Given the description of an element on the screen output the (x, y) to click on. 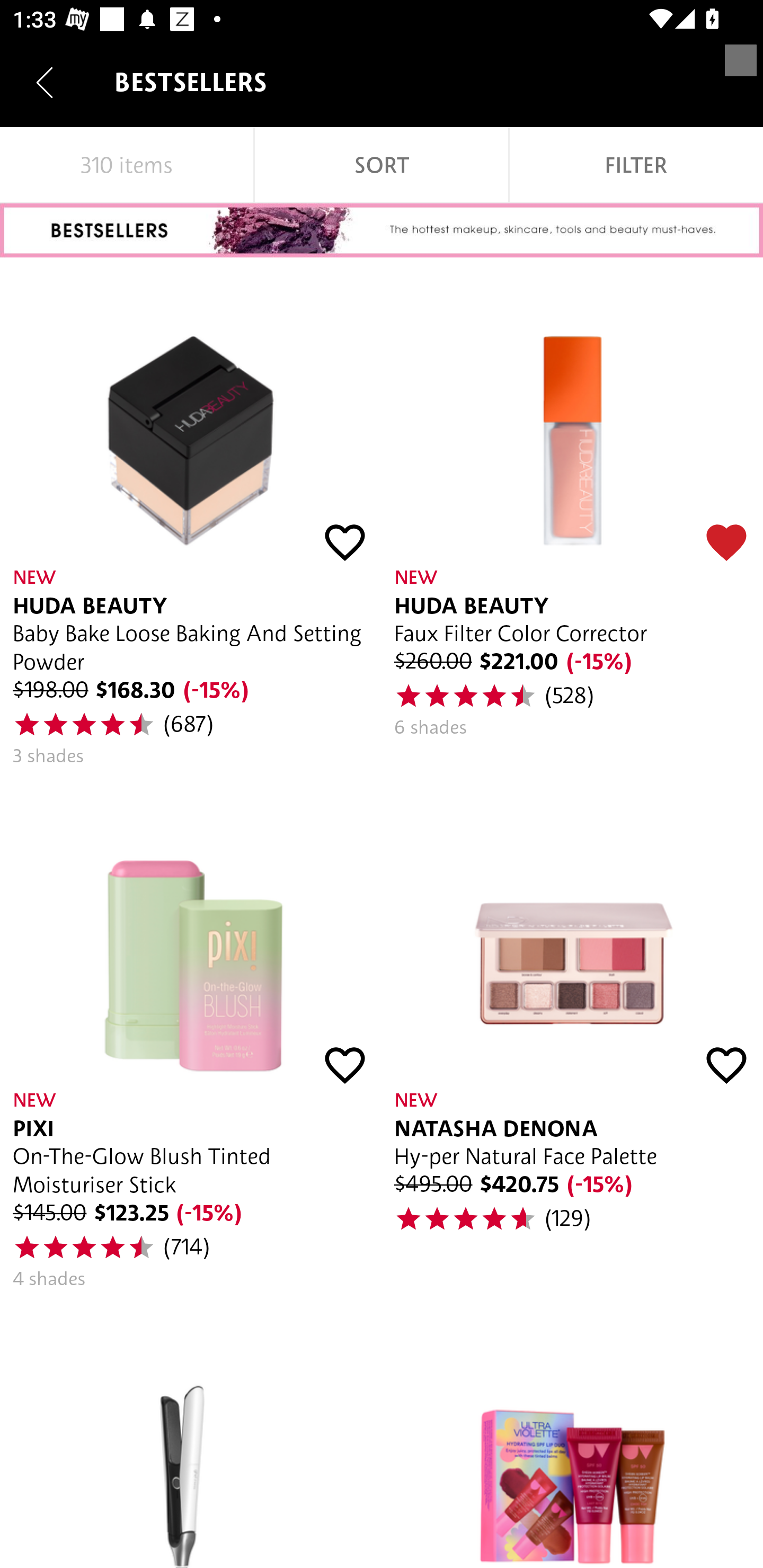
Navigate up (44, 82)
SORT (381, 165)
FILTER (636, 165)
